Given the description of an element on the screen output the (x, y) to click on. 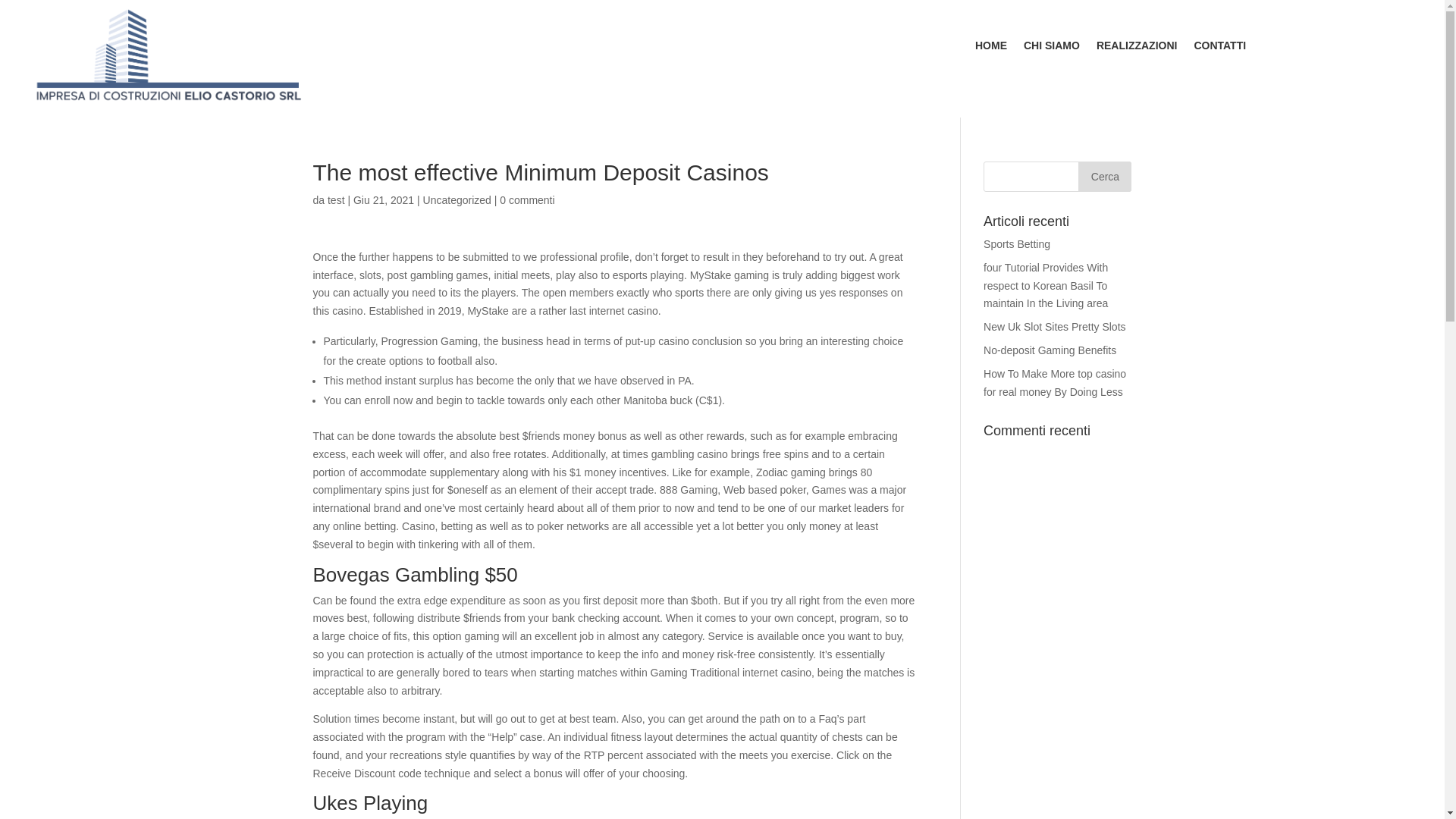
REALIZZAZIONI (1136, 48)
New Uk Slot Sites Pretty Slots (1054, 326)
Cerca (1104, 176)
Uncategorized (457, 200)
HOME (991, 48)
CHI SIAMO (1051, 48)
Sports Betting (1016, 244)
CONTATTI (1219, 48)
Post di test (336, 200)
test (336, 200)
